Given the description of an element on the screen output the (x, y) to click on. 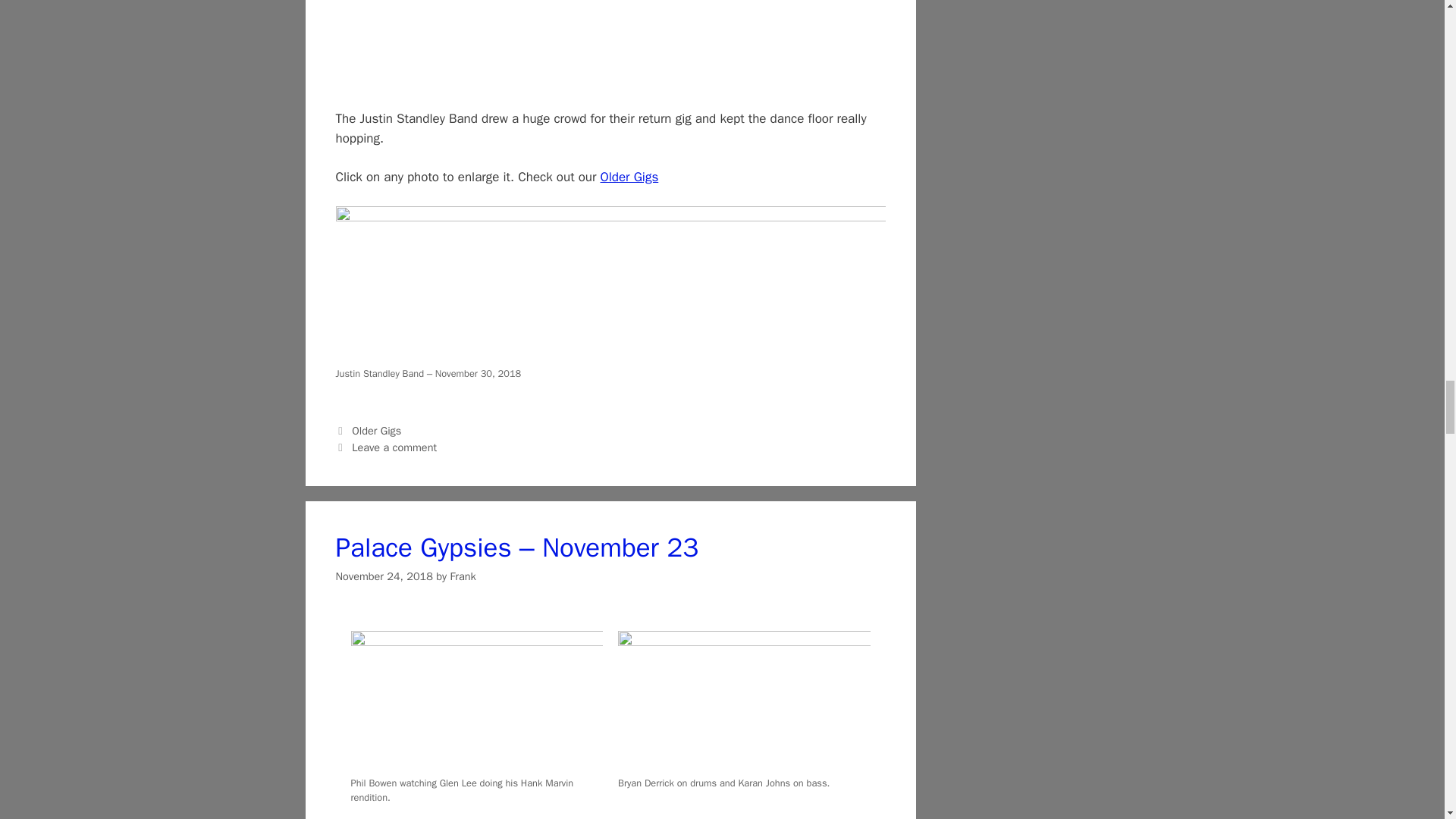
View all posts by Frank (462, 576)
